Given the description of an element on the screen output the (x, y) to click on. 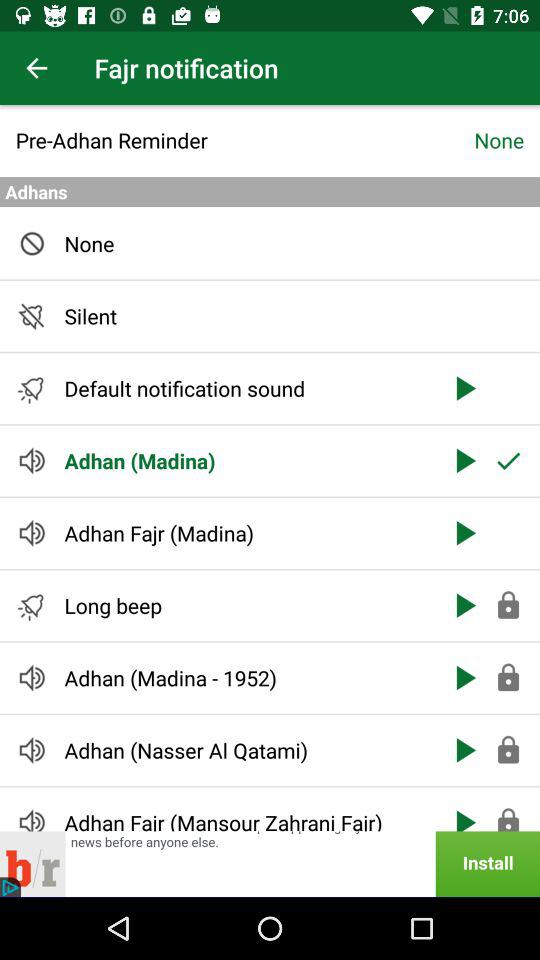
launch icon below the adhan fajr (madina) icon (245, 605)
